Given the description of an element on the screen output the (x, y) to click on. 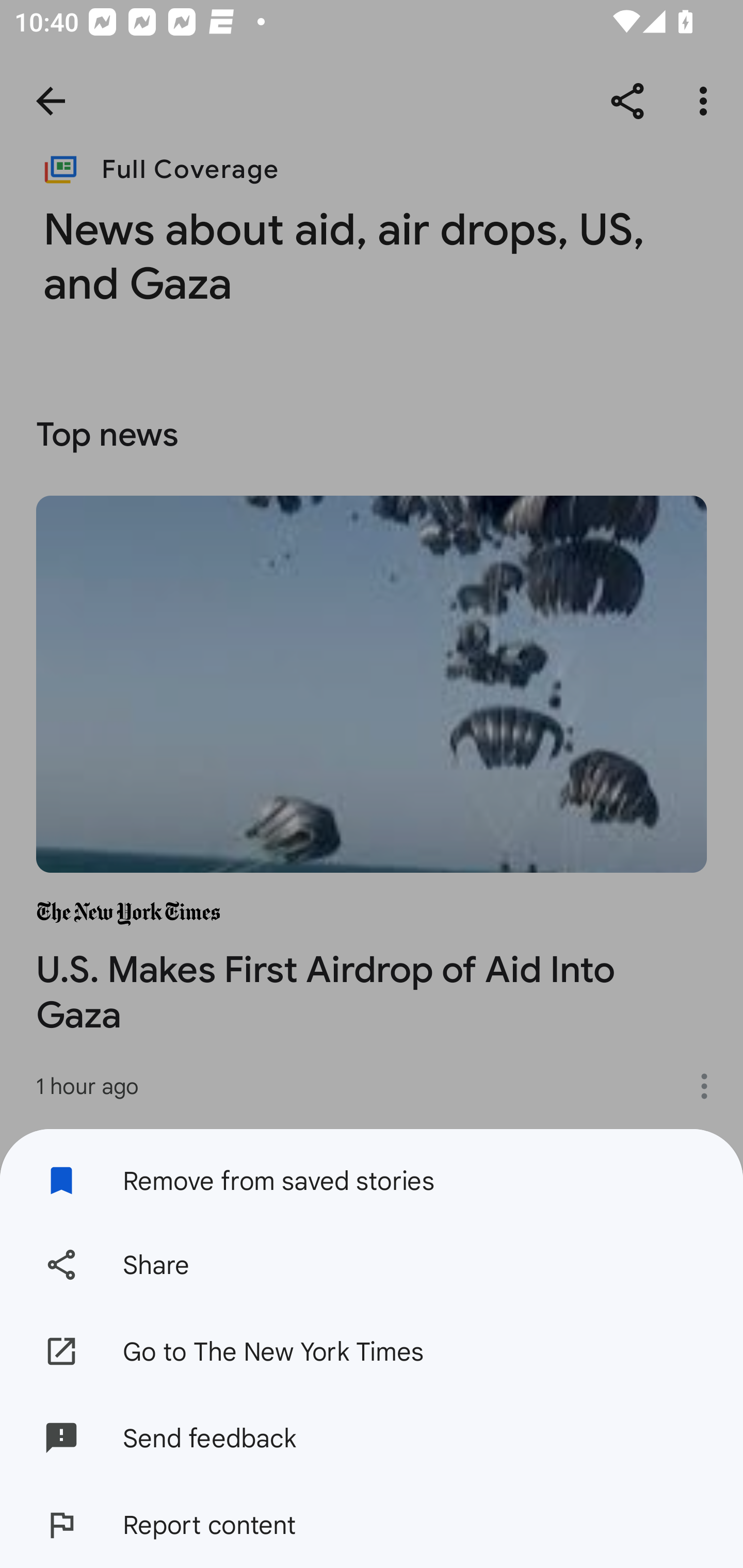
Remove from saved stories (371, 1174)
Share (371, 1264)
Go to The New York Times (371, 1350)
Send feedback (371, 1437)
Report content (371, 1524)
